Given the description of an element on the screen output the (x, y) to click on. 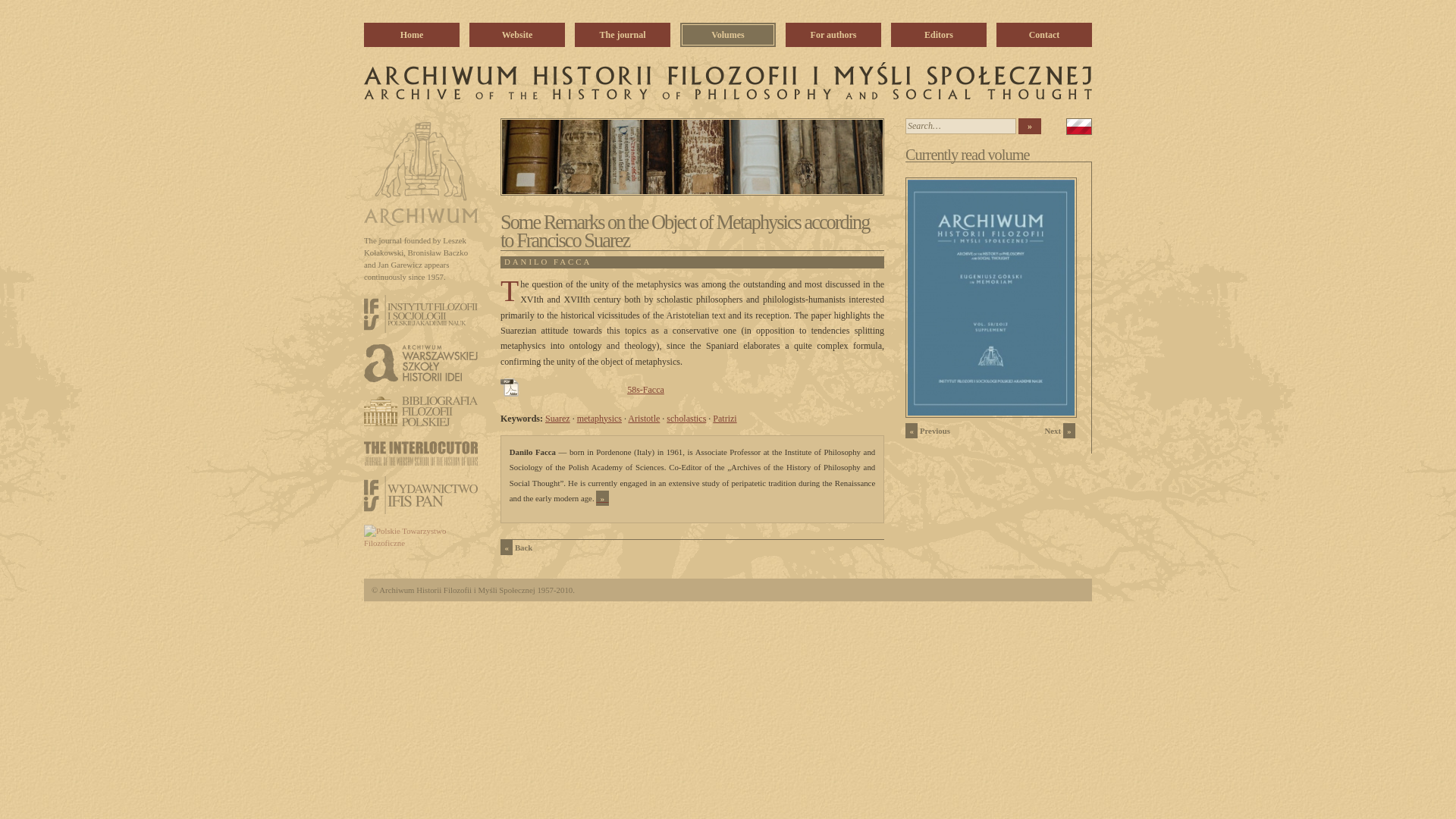
Website (516, 34)
Editors (939, 34)
metaphysics (598, 418)
For authors (833, 34)
Aristotle (643, 418)
Suarez (557, 418)
Home (412, 34)
Contact (1043, 34)
58s-Facca (645, 389)
scholastics (686, 418)
Patrizi (724, 418)
The journal (622, 34)
Volumes (727, 34)
